Given the description of an element on the screen output the (x, y) to click on. 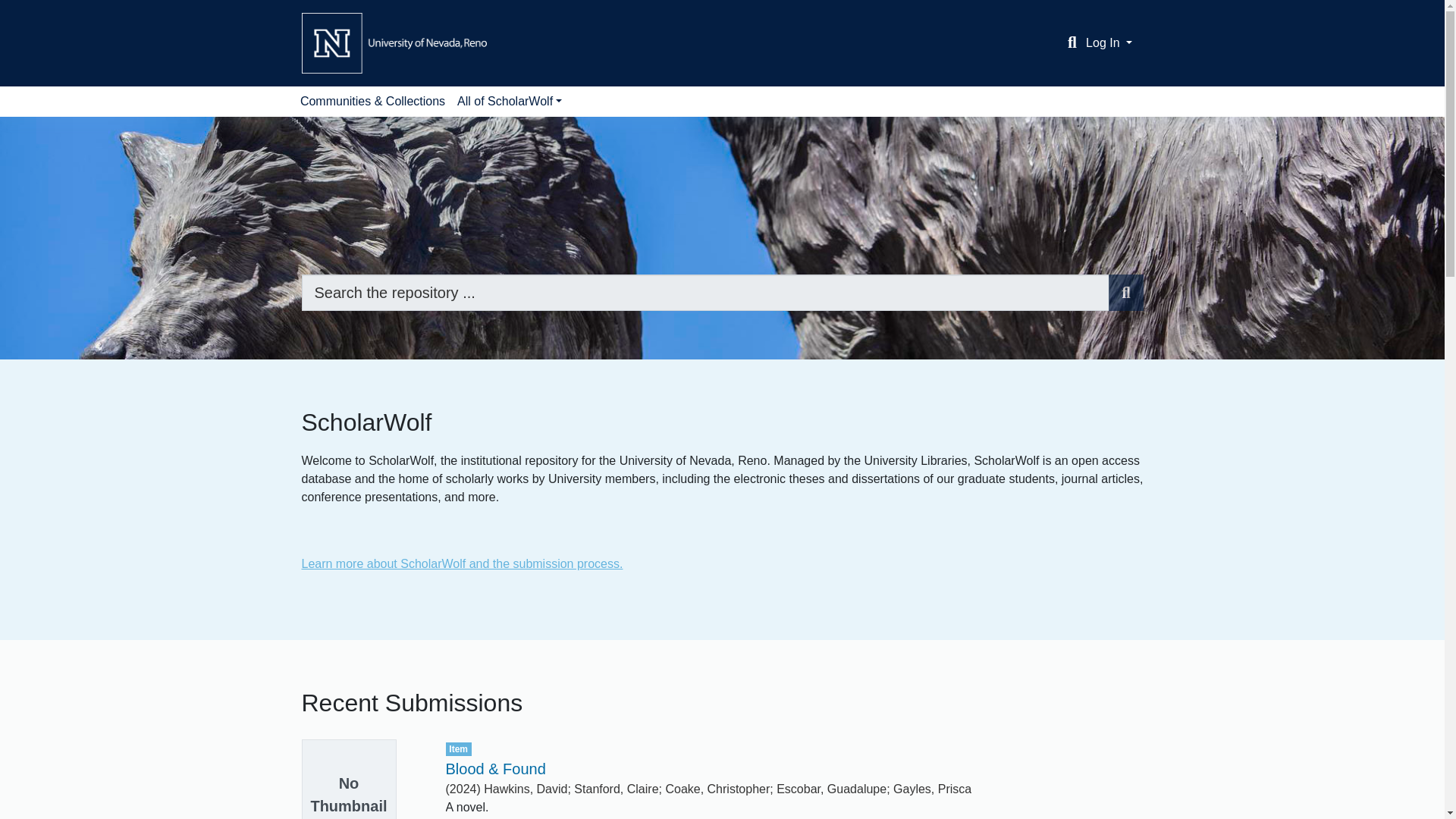
No Thumbnail Available (362, 779)
Learn more about ScholarWolf and the submission process. (462, 563)
All of ScholarWolf (509, 101)
Search (1072, 43)
Log In (1108, 42)
Search (1125, 292)
